Given the description of an element on the screen output the (x, y) to click on. 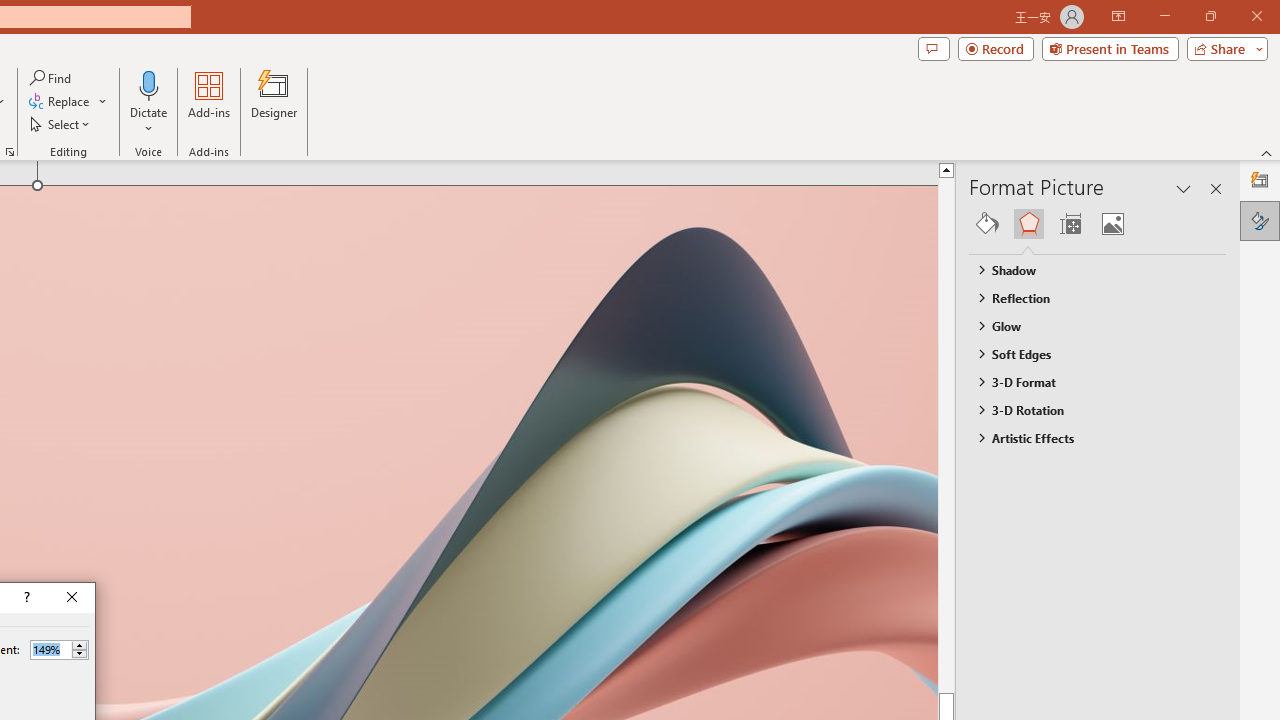
Fill & Line (987, 223)
Percent (59, 650)
Soft Edges (1088, 353)
